Given the description of an element on the screen output the (x, y) to click on. 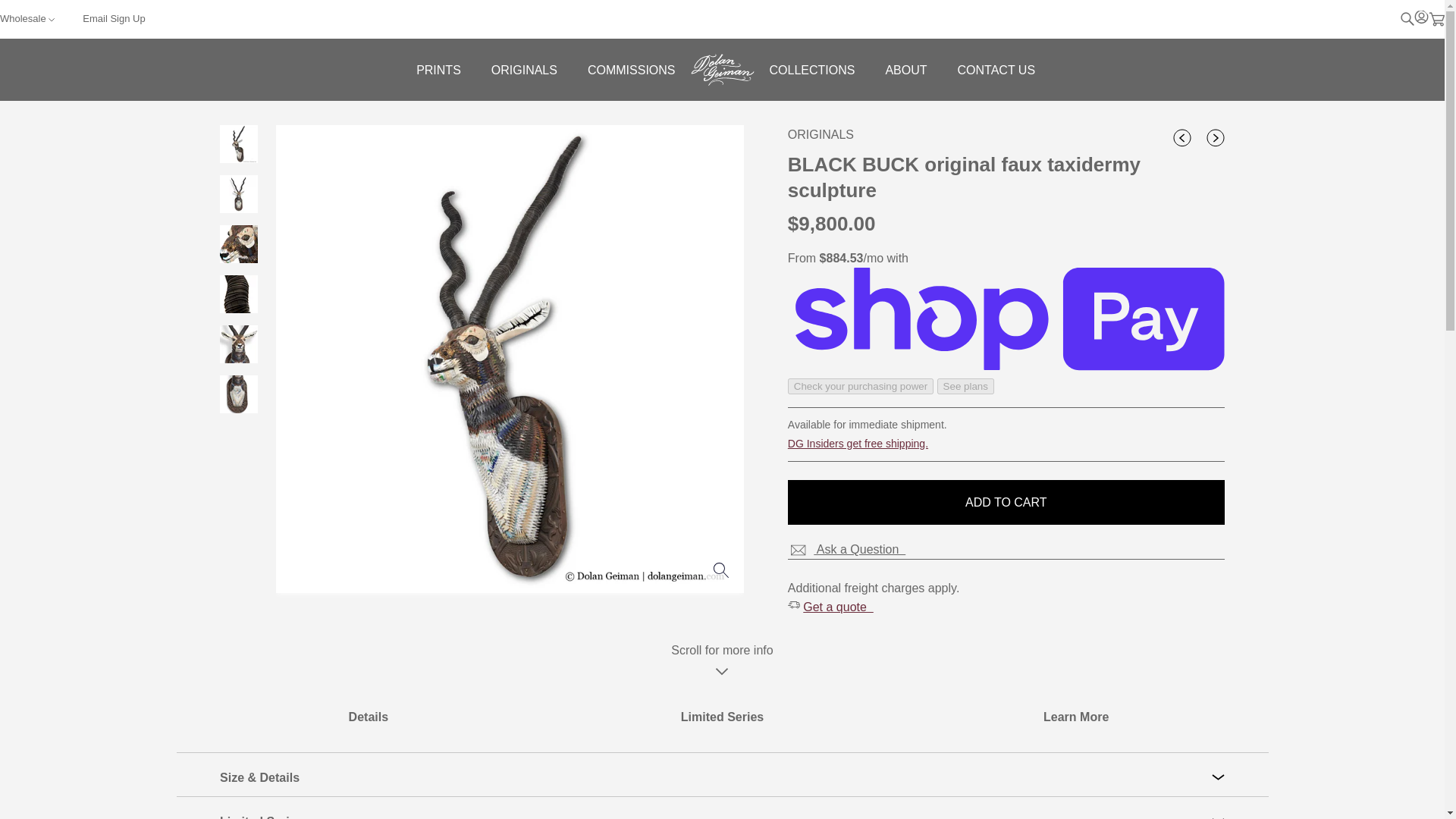
COLLECTIONS (811, 68)
COMMISSIONS (631, 68)
PRINTS (438, 68)
Email Sign Up (99, 18)
Wholesale (27, 18)
ORIGINALS (524, 68)
